Given the description of an element on the screen output the (x, y) to click on. 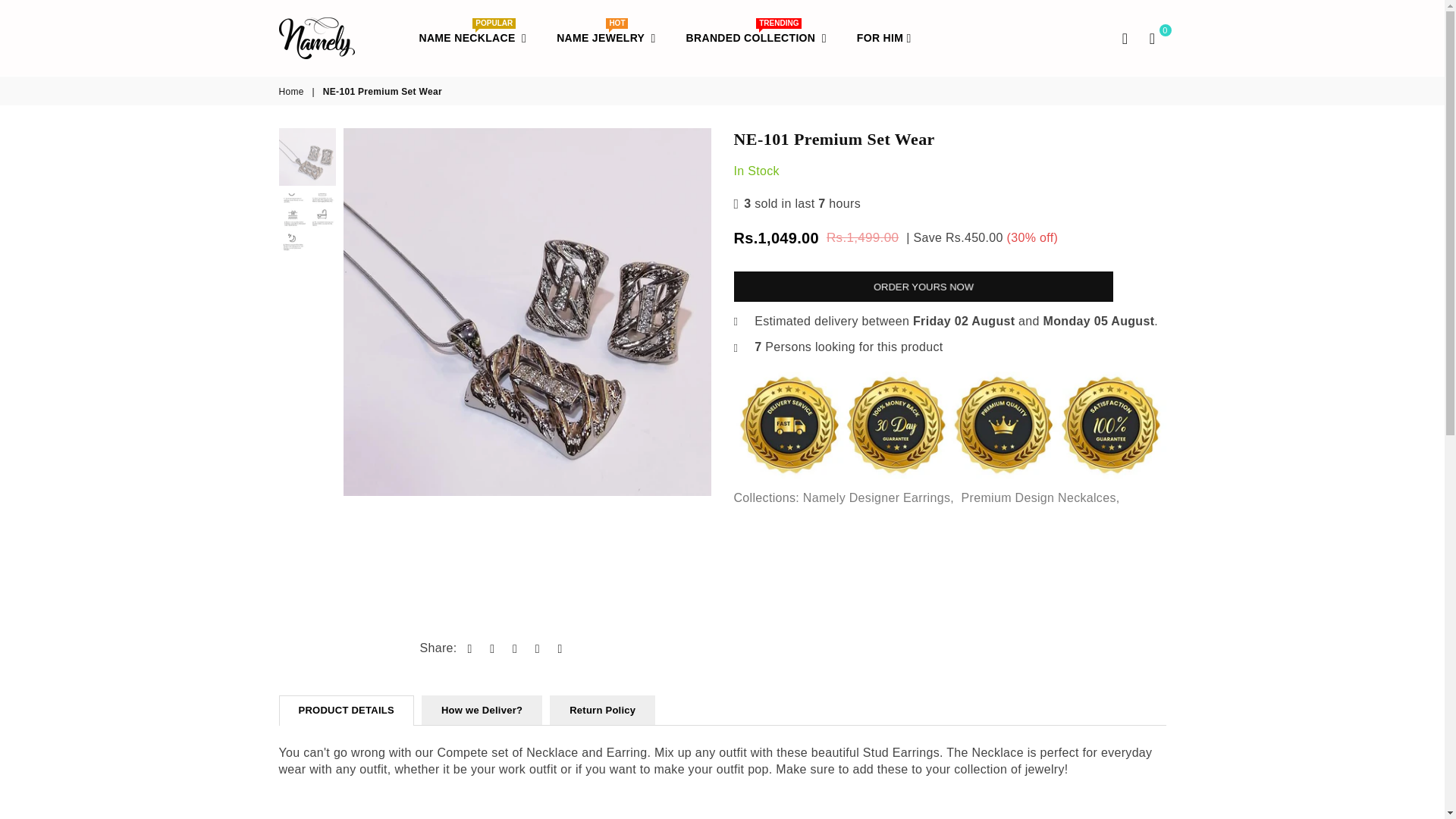
Search (1125, 37)
NAMELY (343, 37)
Cart (1152, 37)
Share by Email (605, 37)
Tweet on Twitter (560, 647)
Share on Facebook (491, 647)
Back to the home page (470, 647)
Share on Linked In (292, 91)
Pin on Pinterest (537, 647)
